Given the description of an element on the screen output the (x, y) to click on. 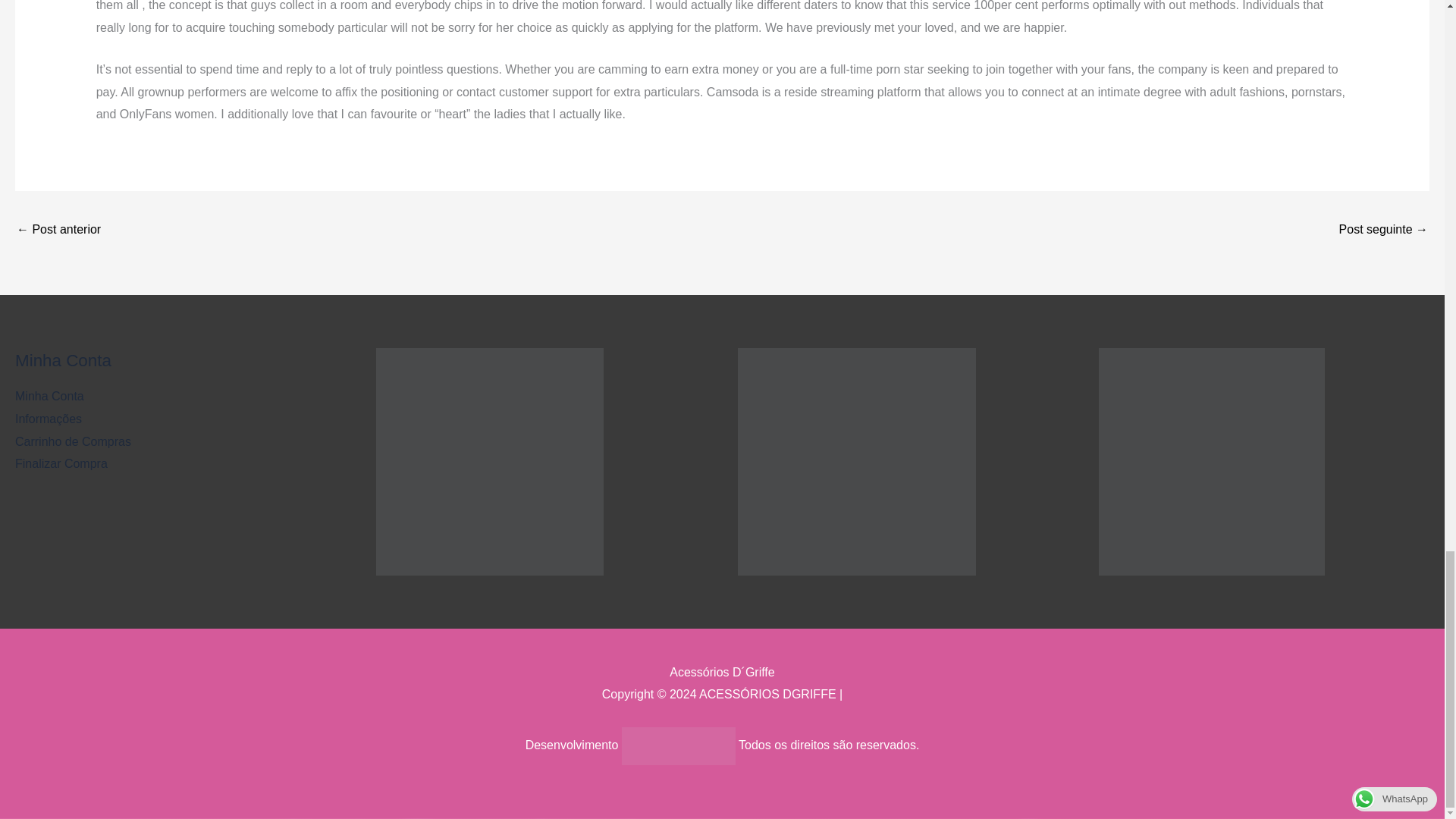
My Social Safety (58, 230)
